Given the description of an element on the screen output the (x, y) to click on. 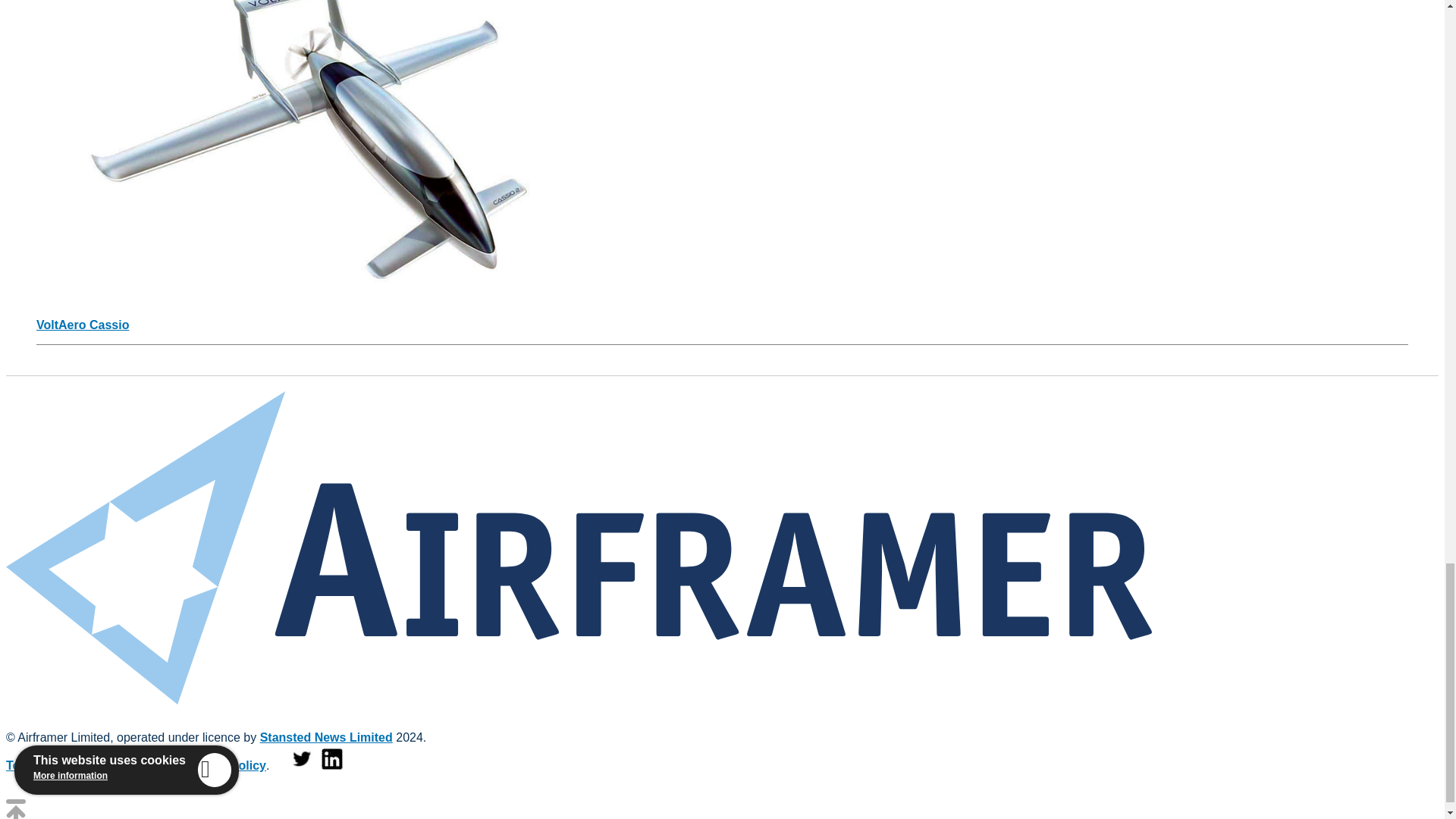
Stansted News Limited (326, 737)
VoltAero Cassio (82, 324)
